Given the description of an element on the screen output the (x, y) to click on. 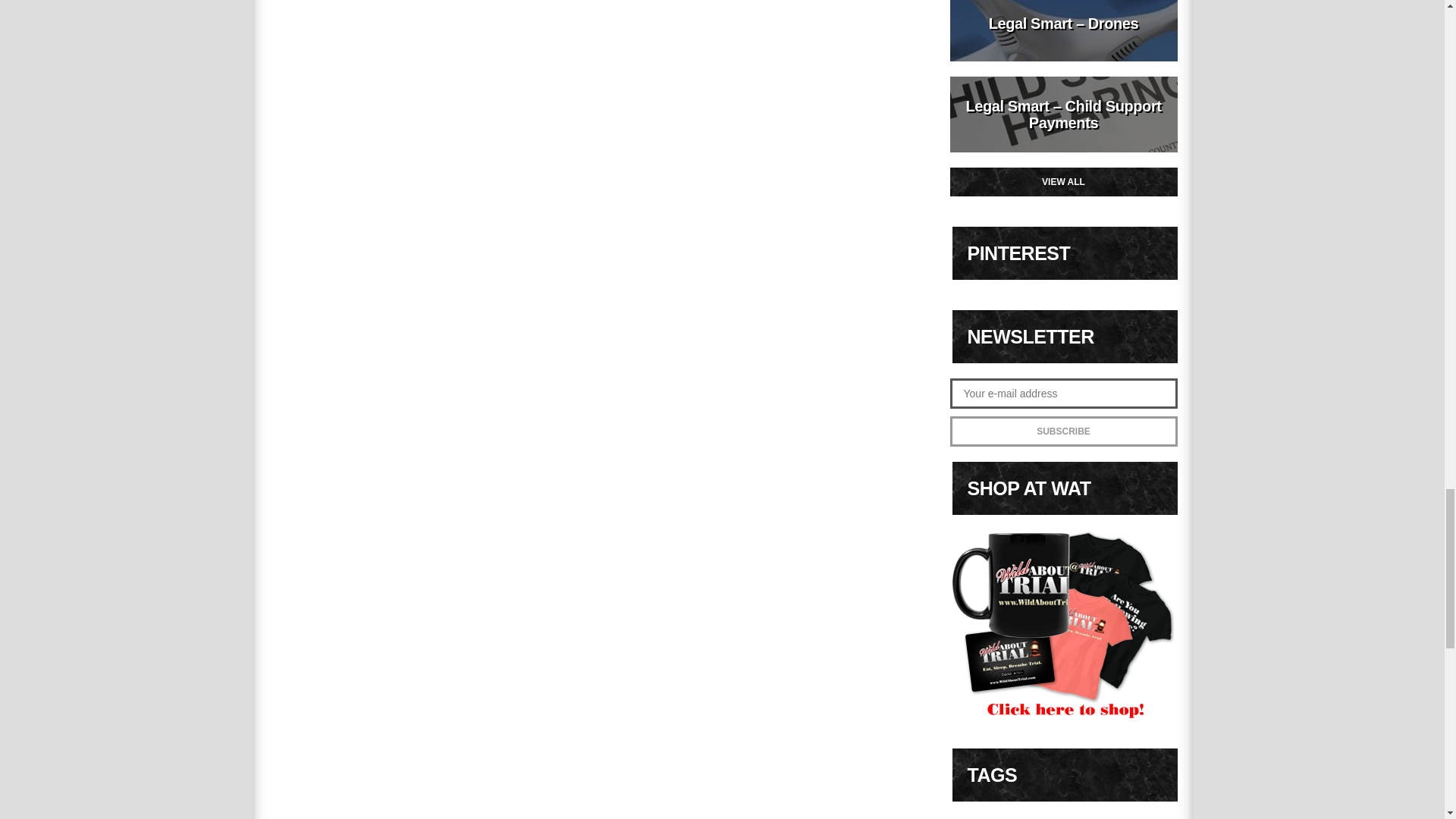
SUBSCRIBE (1062, 431)
